Given the description of an element on the screen output the (x, y) to click on. 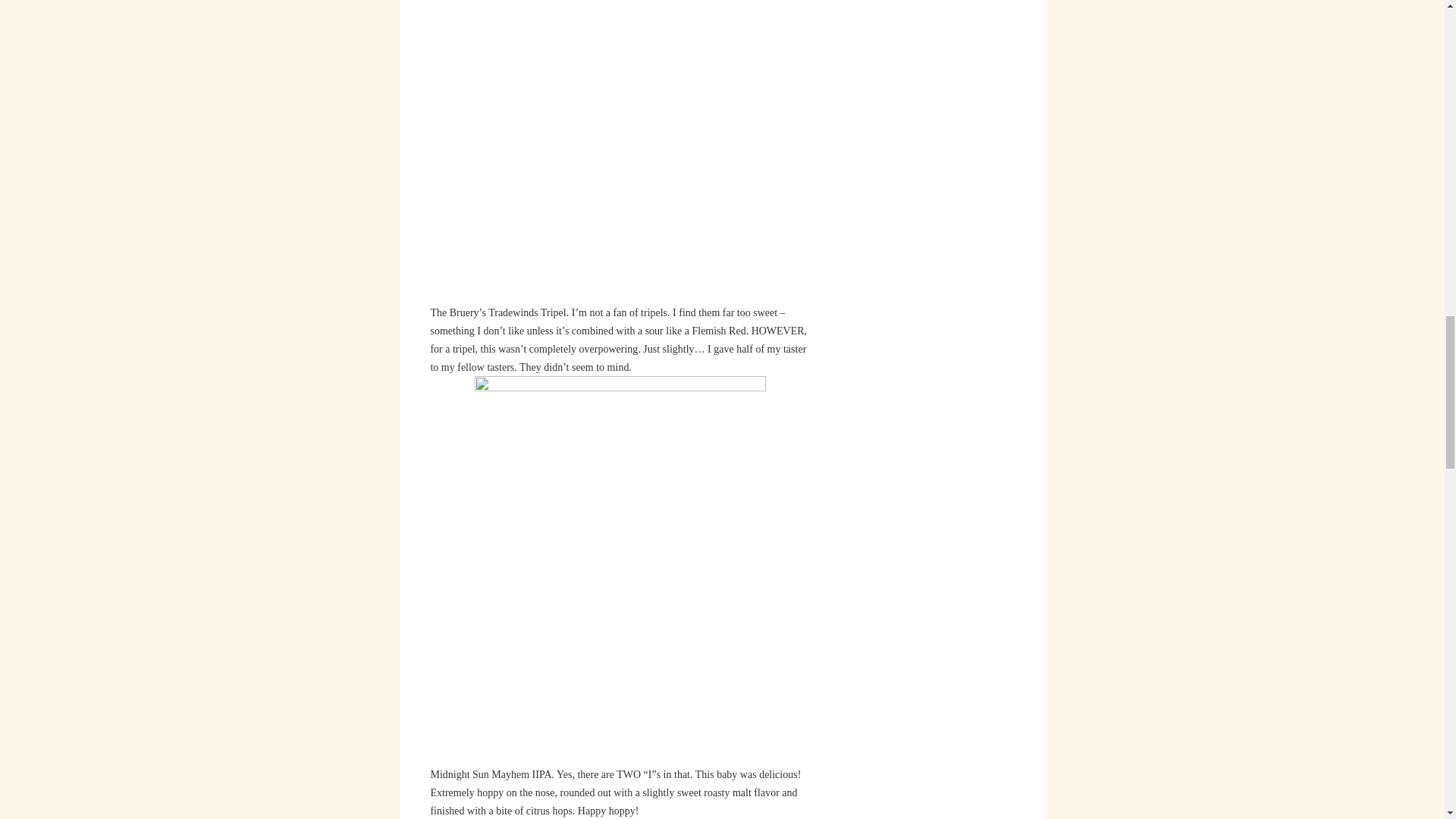
AM3 (619, 151)
